Given the description of an element on the screen output the (x, y) to click on. 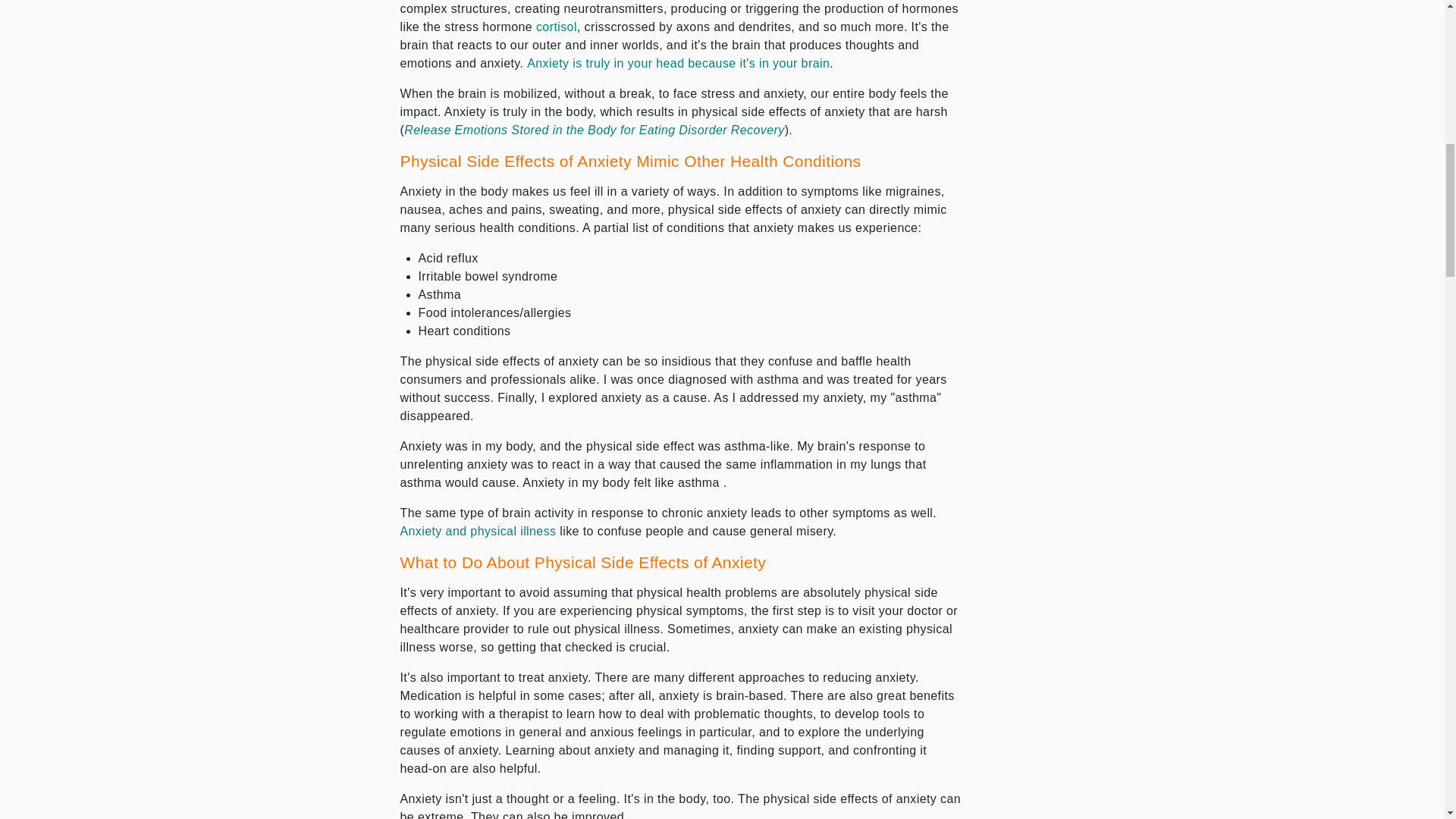
Anxiety and Physical Illness  (478, 530)
Ways to Lower Your Cortisol Levels and Your Anxiety (555, 26)
